Given the description of an element on the screen output the (x, y) to click on. 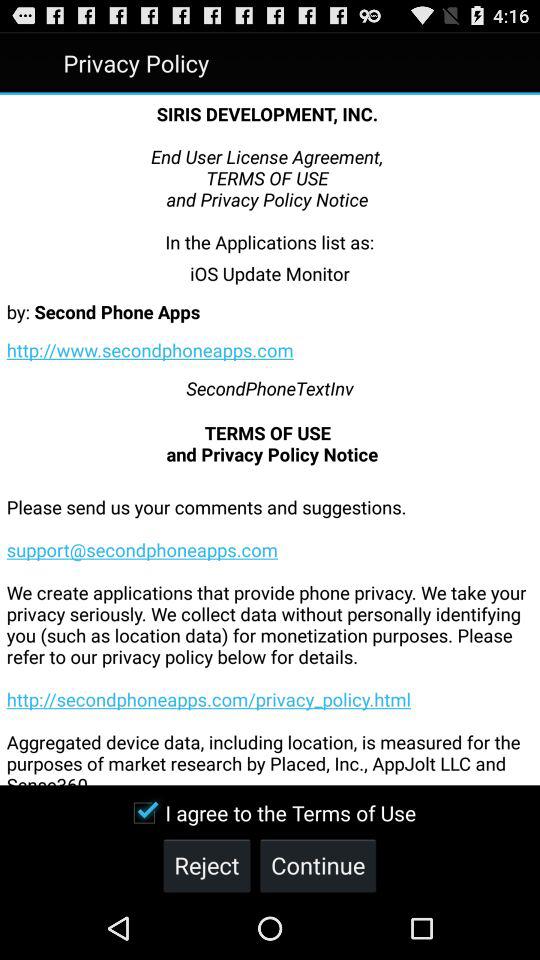
swipe to continue (318, 864)
